Given the description of an element on the screen output the (x, y) to click on. 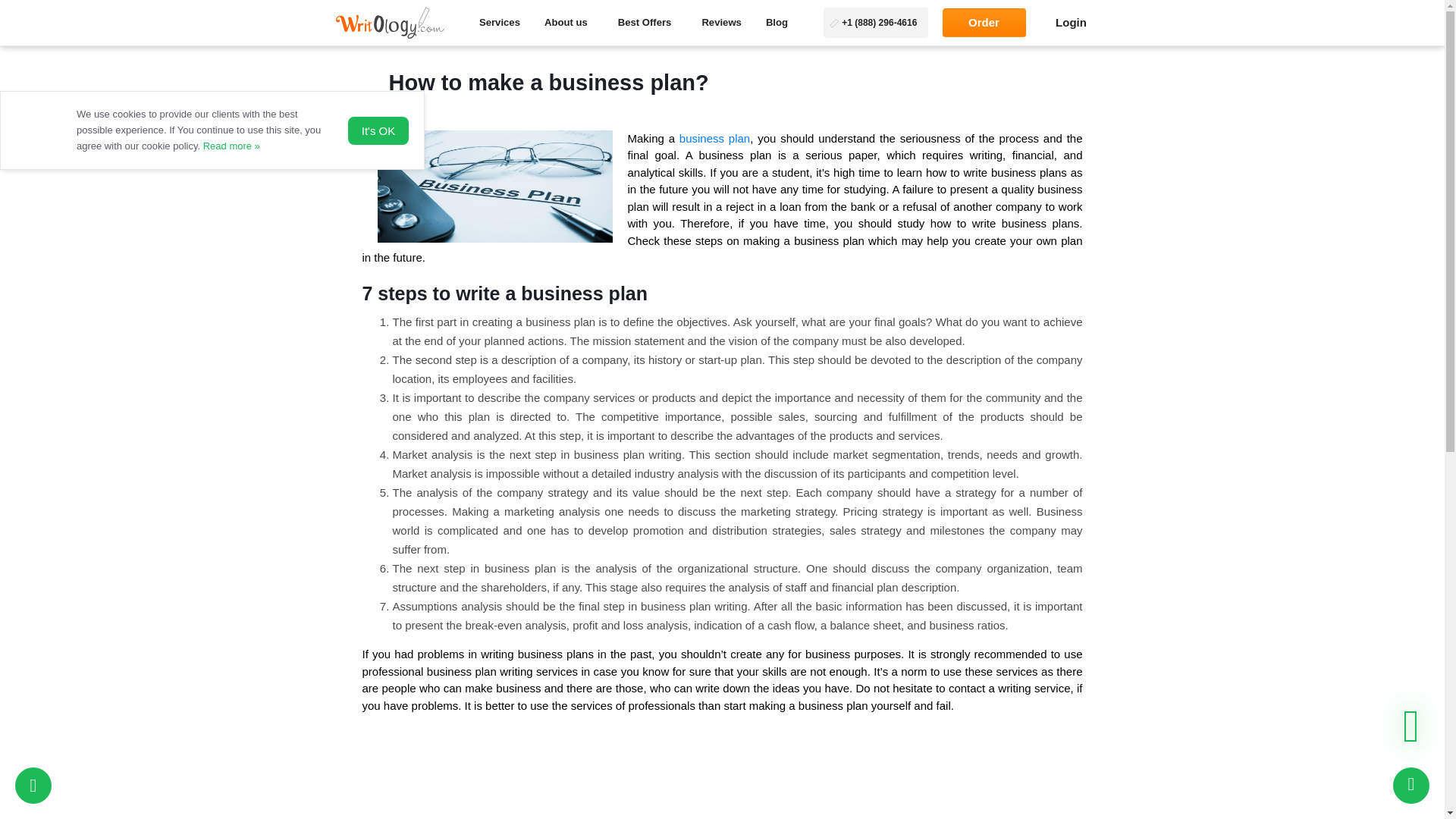
Login (1070, 22)
It's OK (378, 130)
Writology.com (389, 21)
Best Offers (644, 22)
Live Chat (1411, 785)
business plan (714, 137)
Reviews (721, 22)
Services (499, 22)
Order (983, 22)
About us (566, 22)
